Given the description of an element on the screen output the (x, y) to click on. 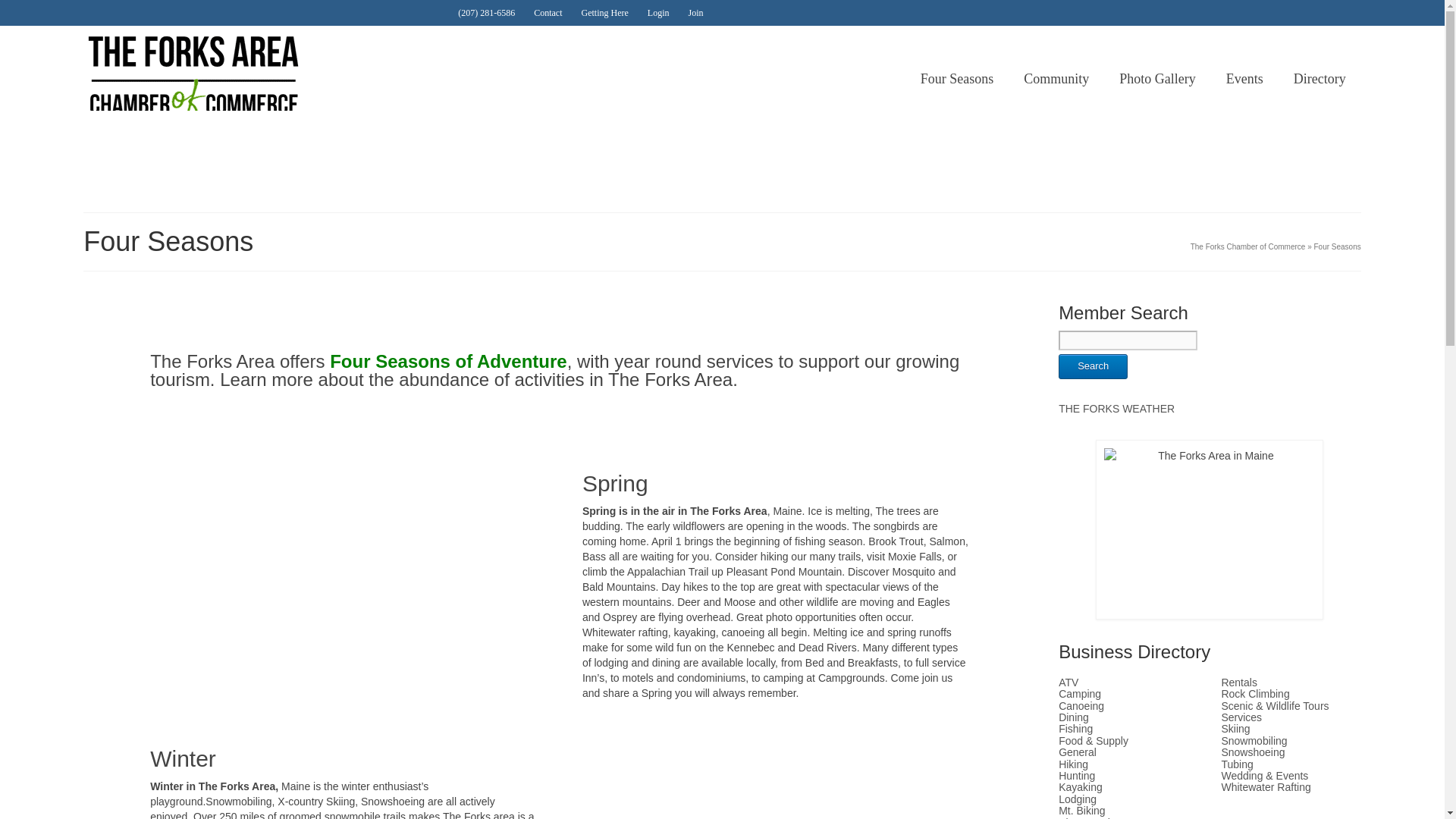
Contact (545, 12)
PADDLE SPORTS (1031, 152)
Directory (1319, 78)
Join (693, 12)
Maine Rafting (188, 152)
Forks Area Chamber of Commerce Members (1319, 78)
Login (656, 12)
Maine Fishing (821, 152)
Join (693, 12)
Community (1056, 78)
